Given the description of an element on the screen output the (x, y) to click on. 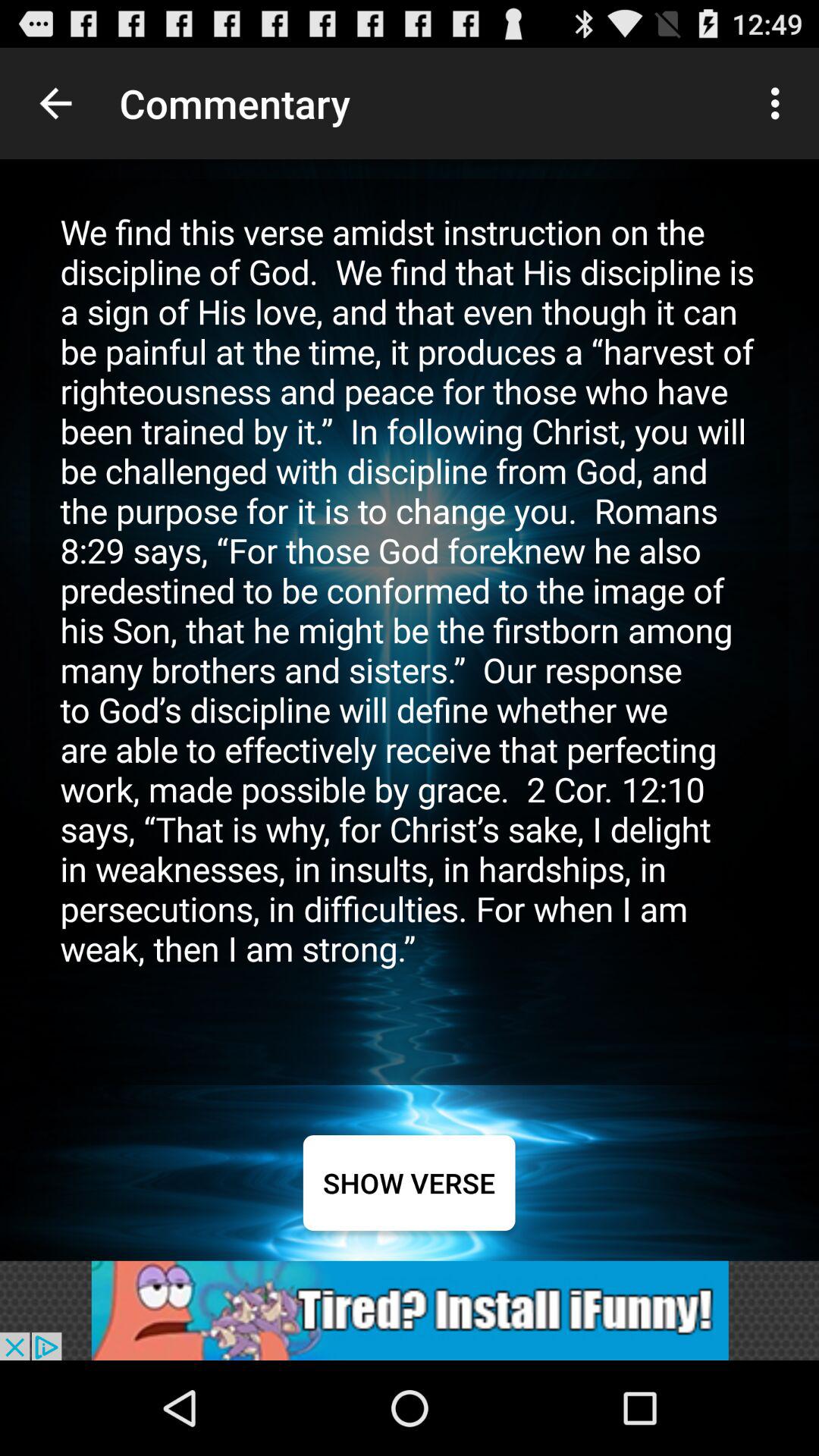
add banner (409, 1310)
